Given the description of an element on the screen output the (x, y) to click on. 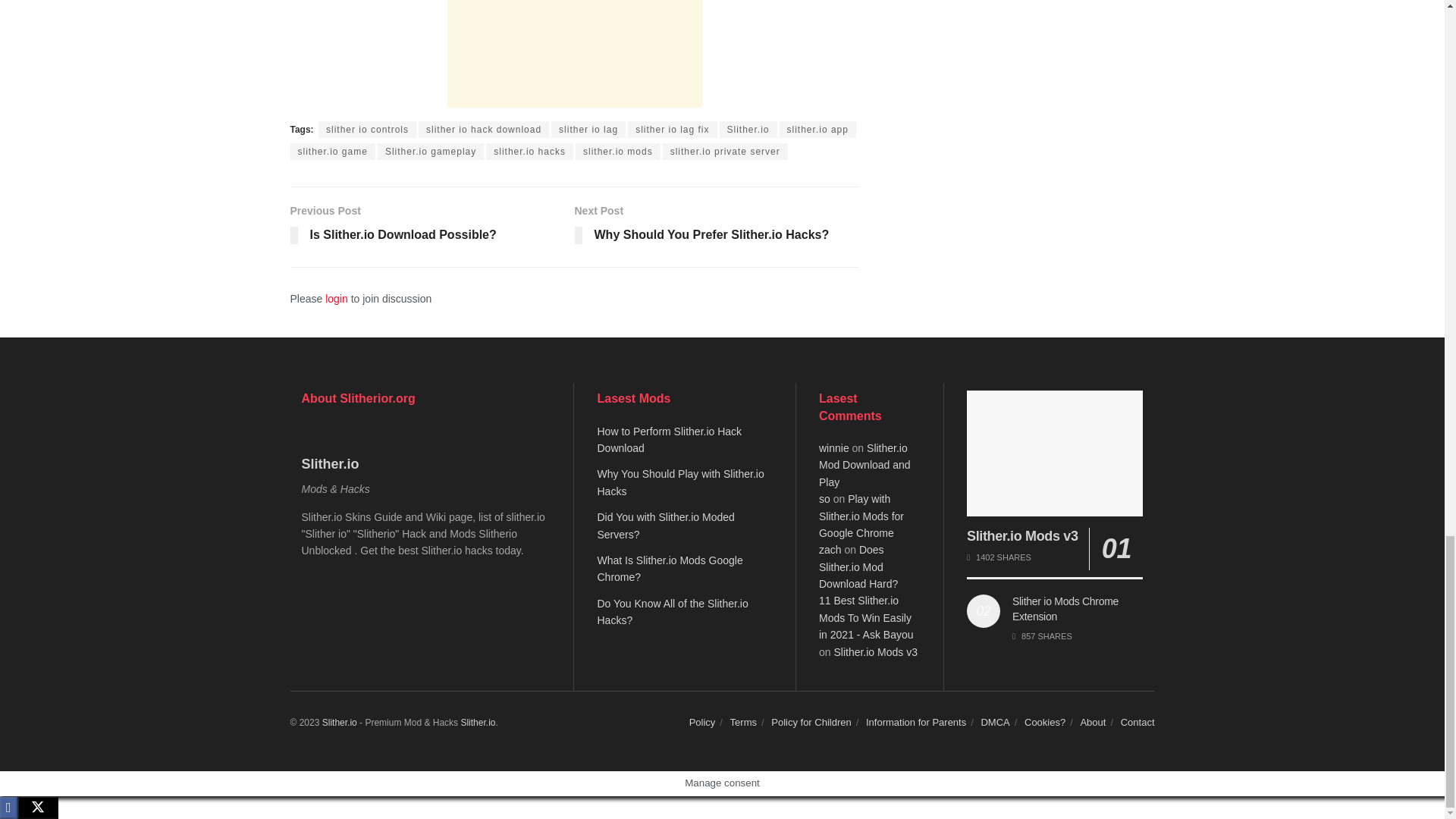
Terms of Use (743, 722)
Privacy Policy (702, 722)
Privacy Policy for Children and Parents (811, 722)
About Us (1092, 722)
Slitheri.io Mods (338, 722)
Contact Us (1137, 722)
How Google uses cookies? (1045, 722)
DMCA (994, 722)
Slither.io (477, 722)
Information for Parents (916, 722)
